Given the description of an element on the screen output the (x, y) to click on. 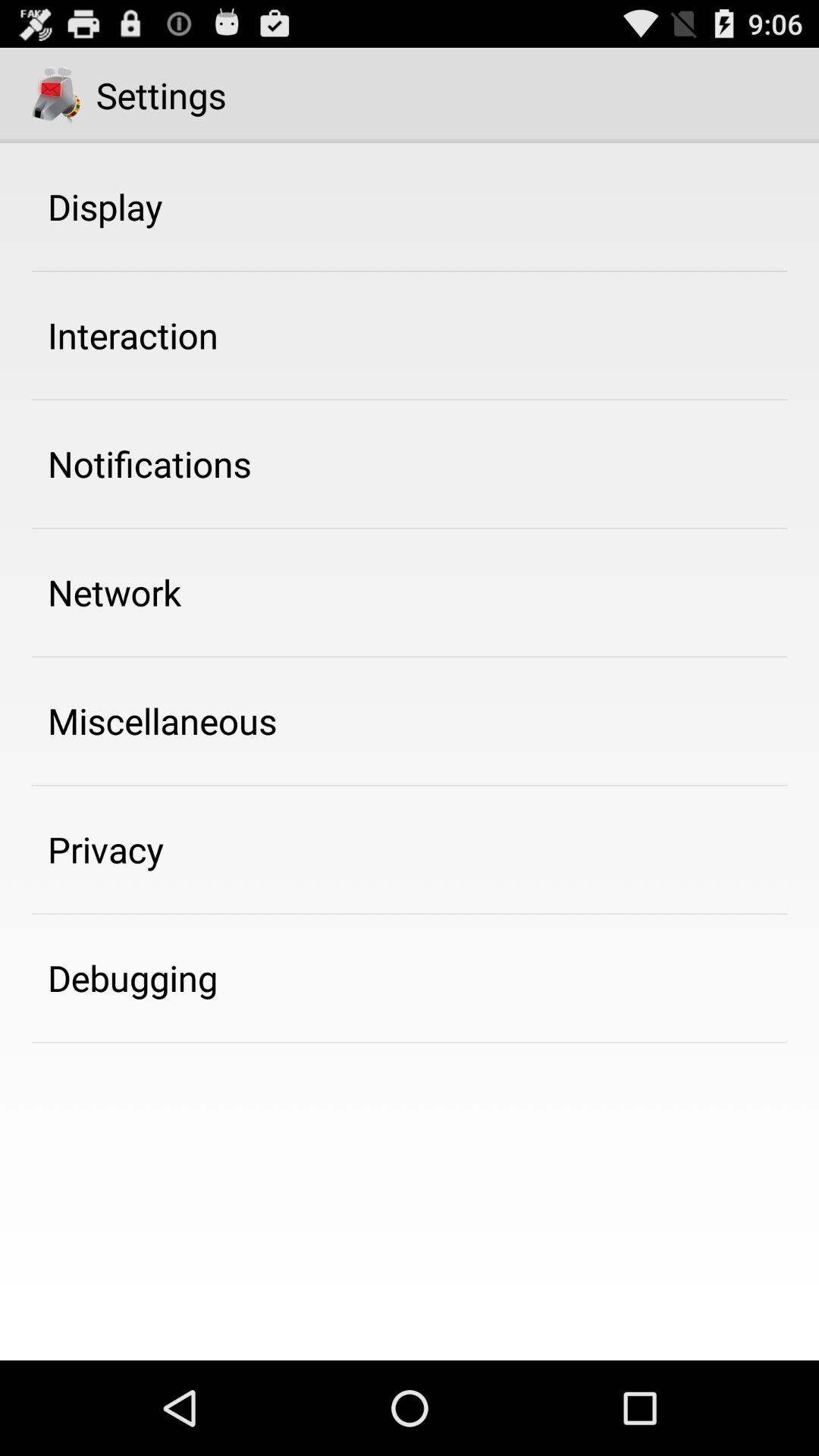
turn on display app (104, 206)
